Given the description of an element on the screen output the (x, y) to click on. 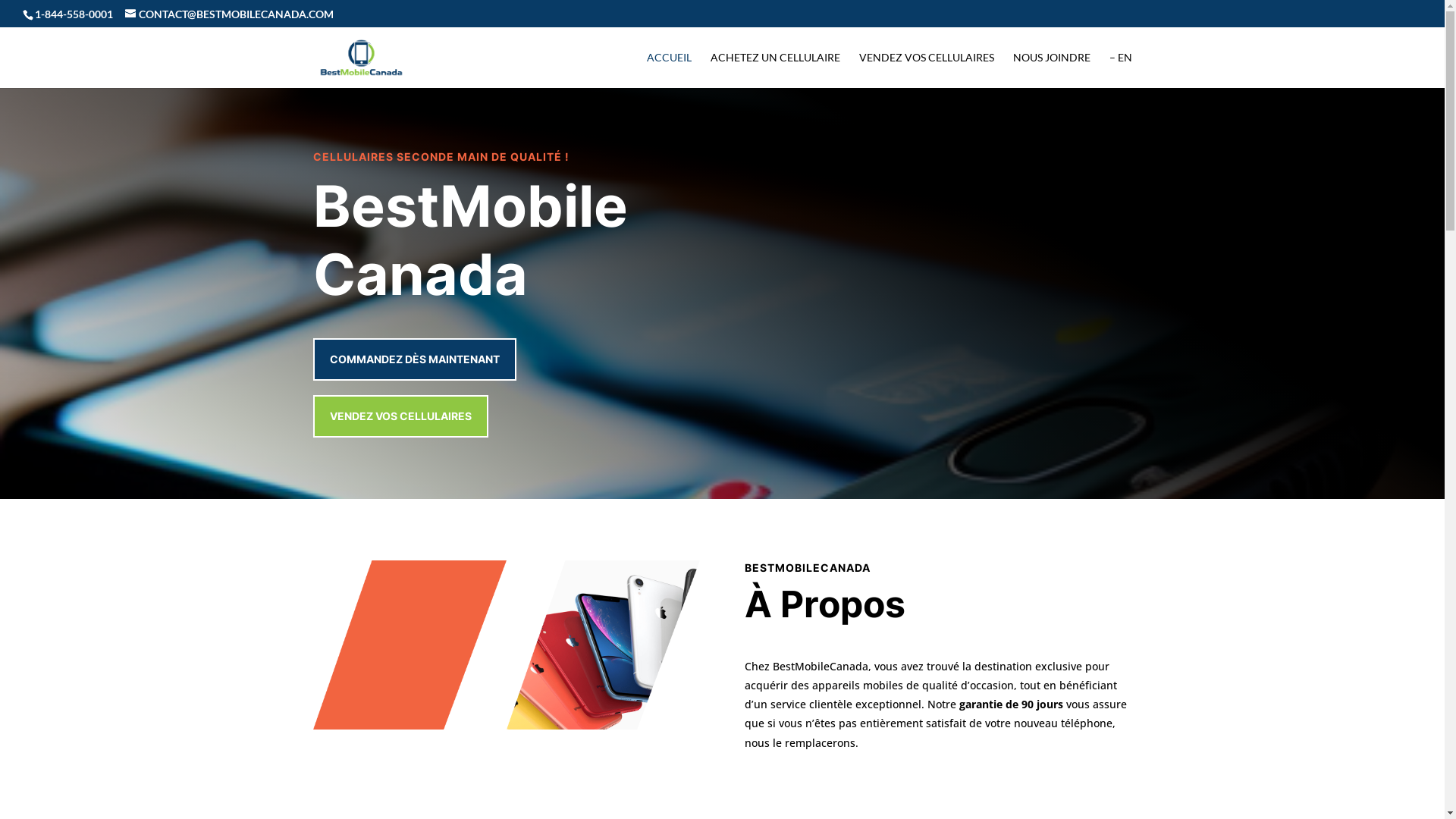
CONTACT@BESTMOBILECANADA.COM Element type: text (229, 13)
NOUS JOINDRE Element type: text (1051, 69)
ACHETEZ UN CELLULAIRE Element type: text (774, 69)
VENDEZ VOS CELLULAIRES Element type: text (399, 416)
device-repair-1 Element type: hover (408, 644)
og__bem3u6u4usnm Element type: hover (602, 644)
YouTube video player Element type: hover (937, 258)
VENDEZ VOS CELLULAIRES Element type: text (925, 69)
ACCUEIL Element type: text (668, 69)
